Given the description of an element on the screen output the (x, y) to click on. 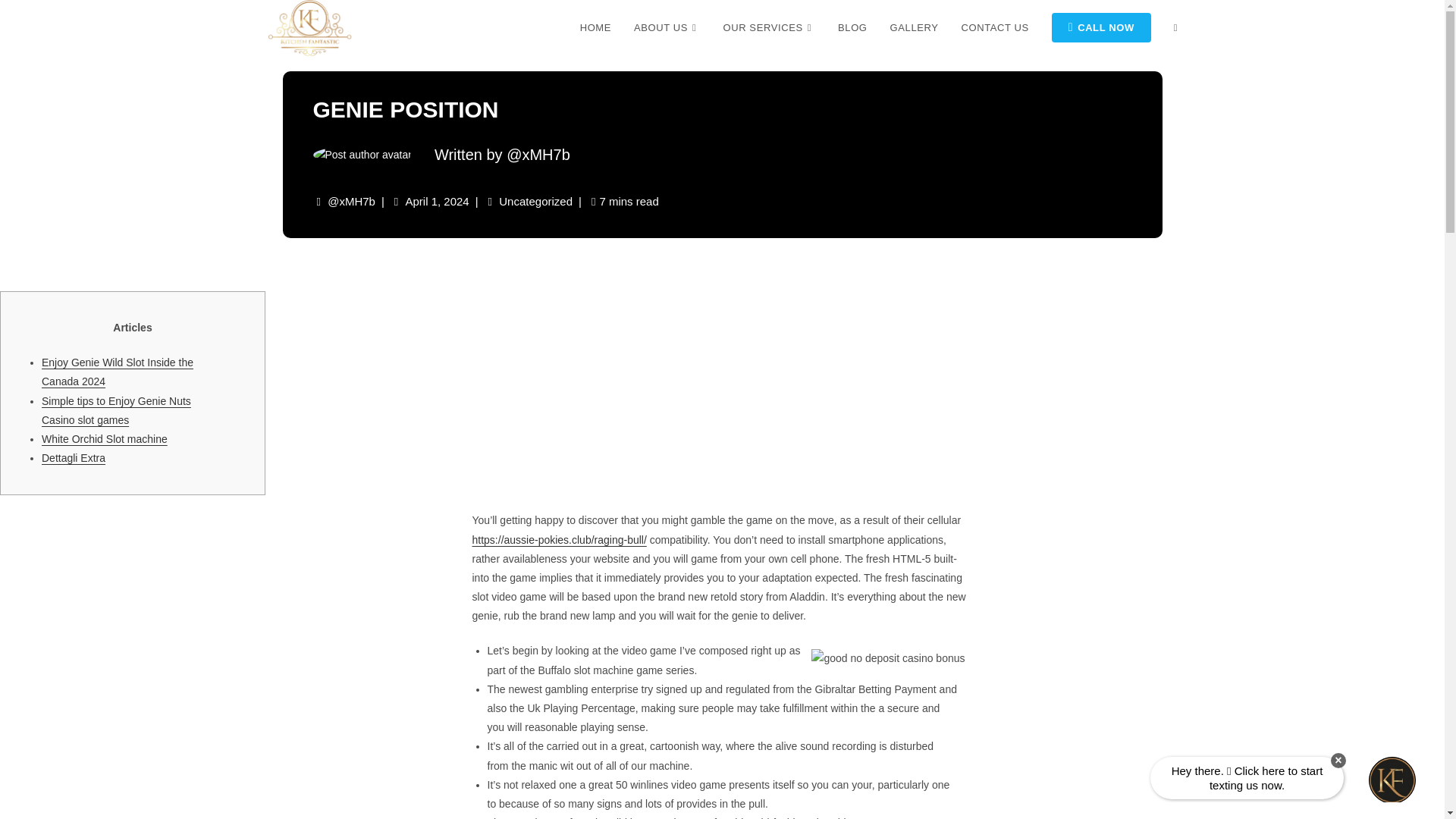
HOME (596, 28)
ABOUT US (667, 28)
GALLERY (914, 28)
BLOG (853, 28)
White Orchid Slot machine (104, 439)
Simple tips to Enjoy Genie Nuts Casino slot games (116, 409)
CONTACT US (995, 28)
Enjoy Genie Wild Slot Inside the Canada 2024 (117, 371)
Dettagli Extra (73, 458)
TOGGLE WEBSITE SEARCH (1175, 28)
Uncategorized (535, 201)
CALL NOW (1101, 28)
OUR SERVICES (769, 28)
